Given the description of an element on the screen output the (x, y) to click on. 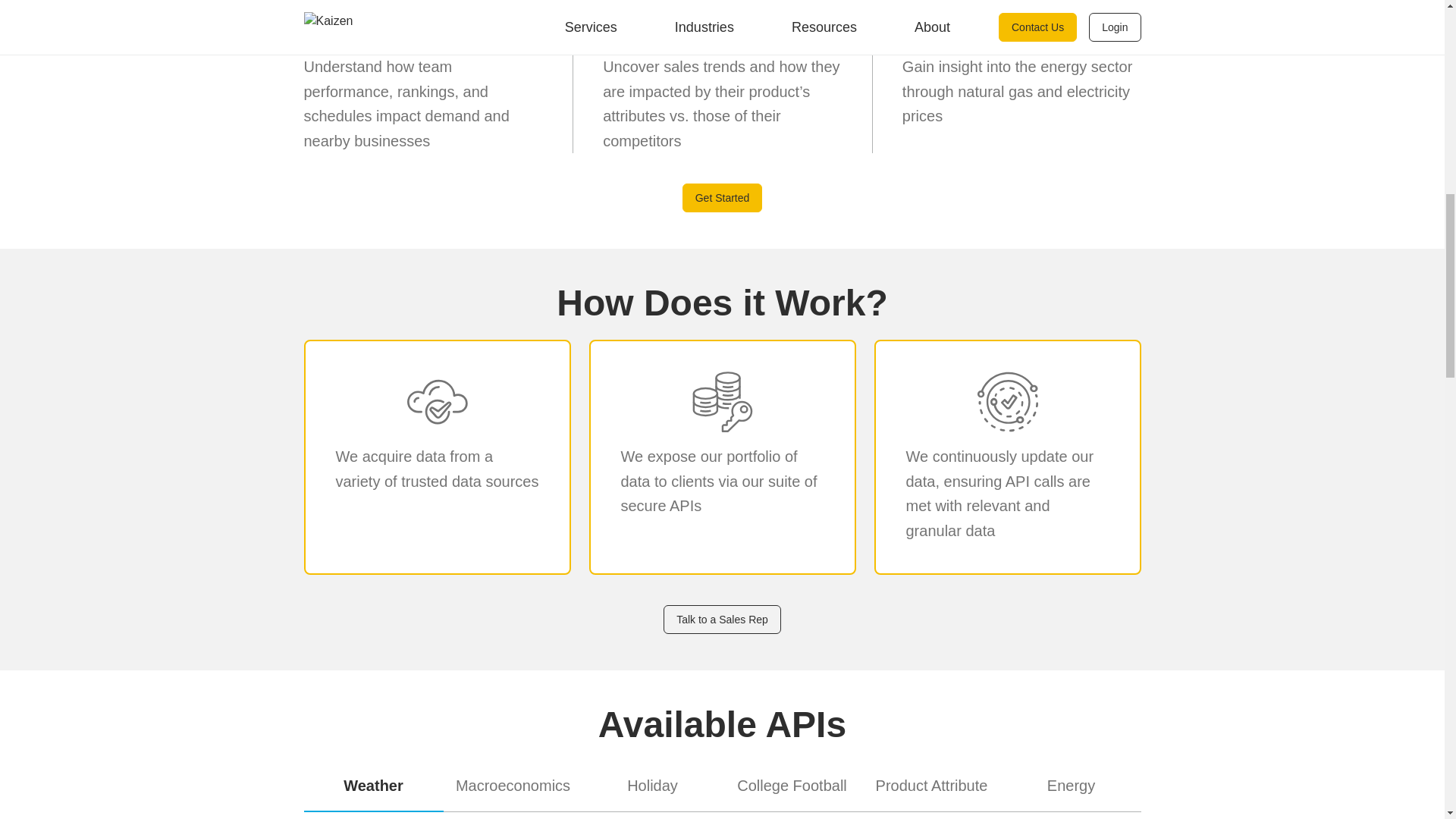
Get Started (722, 197)
College Football (791, 786)
Get Started (722, 196)
Talk to a Sales Rep (721, 618)
Product Attribute (931, 786)
Holiday (652, 786)
Macroeconomics (512, 786)
Energy (1070, 786)
Talk to a Sales Rep (721, 619)
Weather (372, 786)
